Given the description of an element on the screen output the (x, y) to click on. 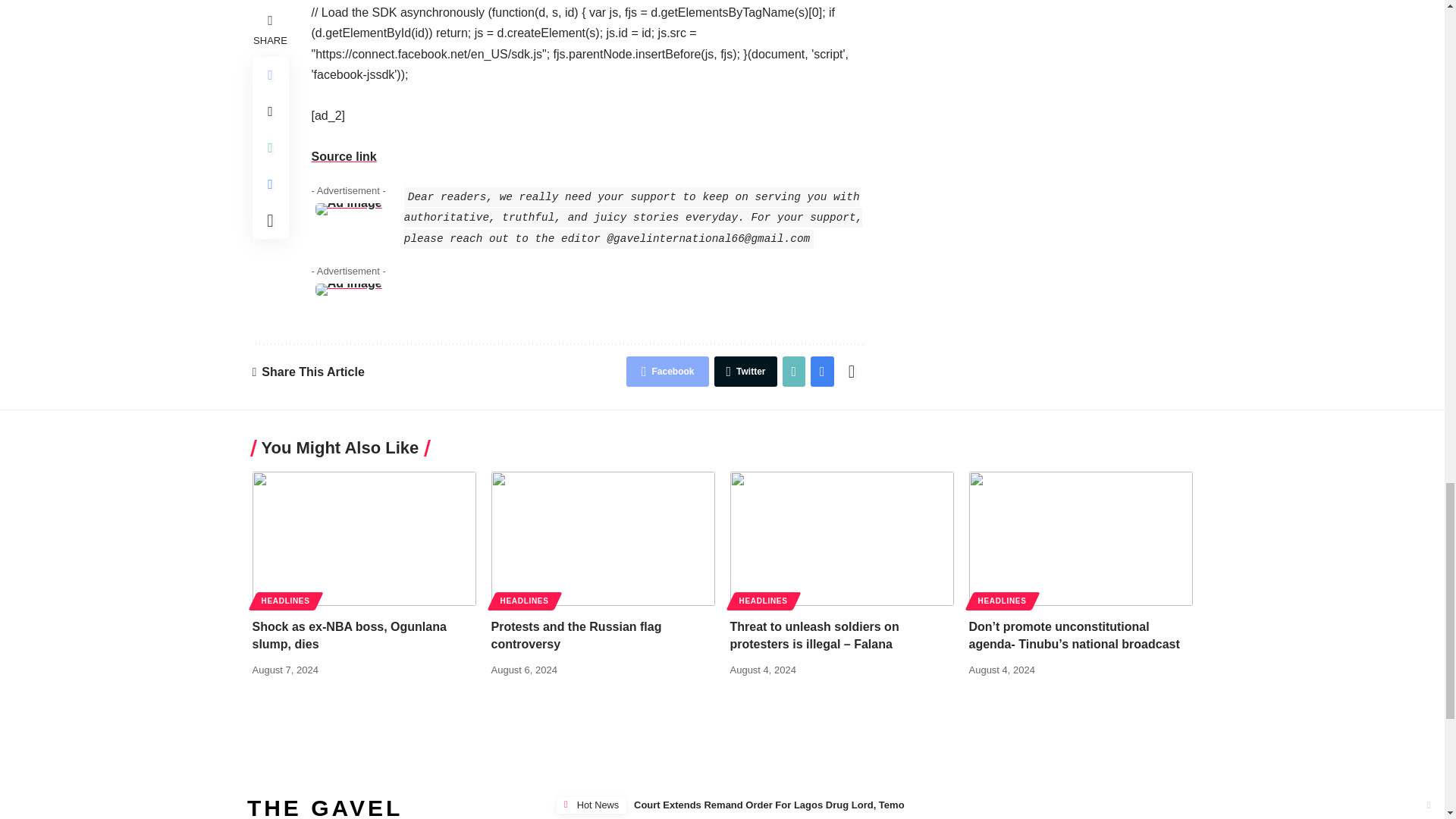
Twitter (745, 371)
Facebook (668, 371)
Shock as ex-NBA boss, Ogunlana slump, dies (348, 634)
Source link (343, 155)
Shock as ex-NBA boss, Ogunlana slump, dies (363, 538)
HEADLINES (284, 601)
Protests and the Russian flag controversy (603, 538)
